Given the description of an element on the screen output the (x, y) to click on. 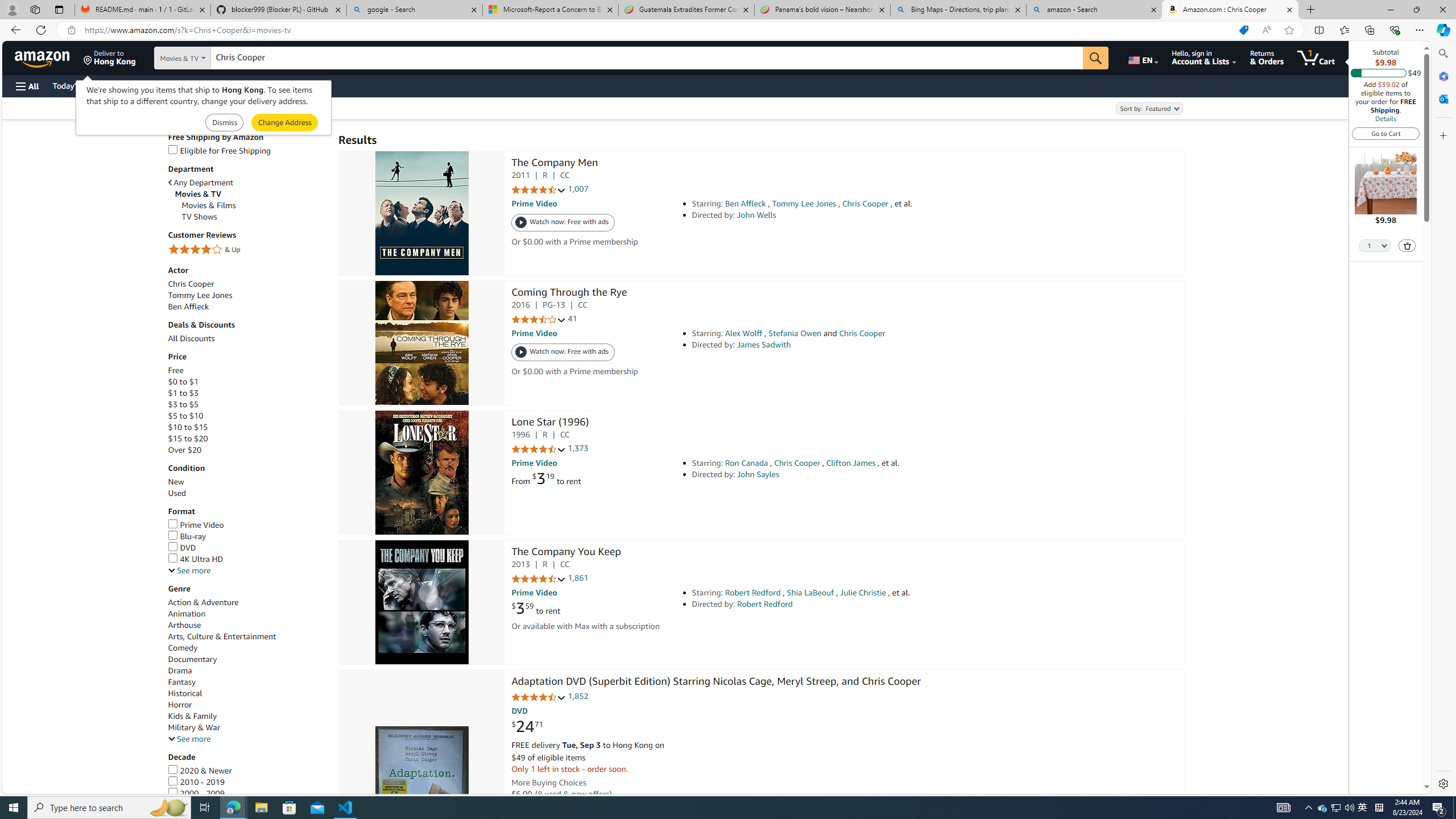
Ben Affleck (188, 306)
Returns & Orders (1266, 57)
$5 to $10 (185, 415)
Search Amazon (647, 57)
Hello, sign in Account & Lists (1203, 57)
Prime Video (195, 524)
1,861 (577, 578)
3.3 out of 5 stars (538, 319)
Delete (1407, 245)
Arthouse (247, 624)
Military & War (193, 727)
4.4 out of 5 stars (538, 697)
